Given the description of an element on the screen output the (x, y) to click on. 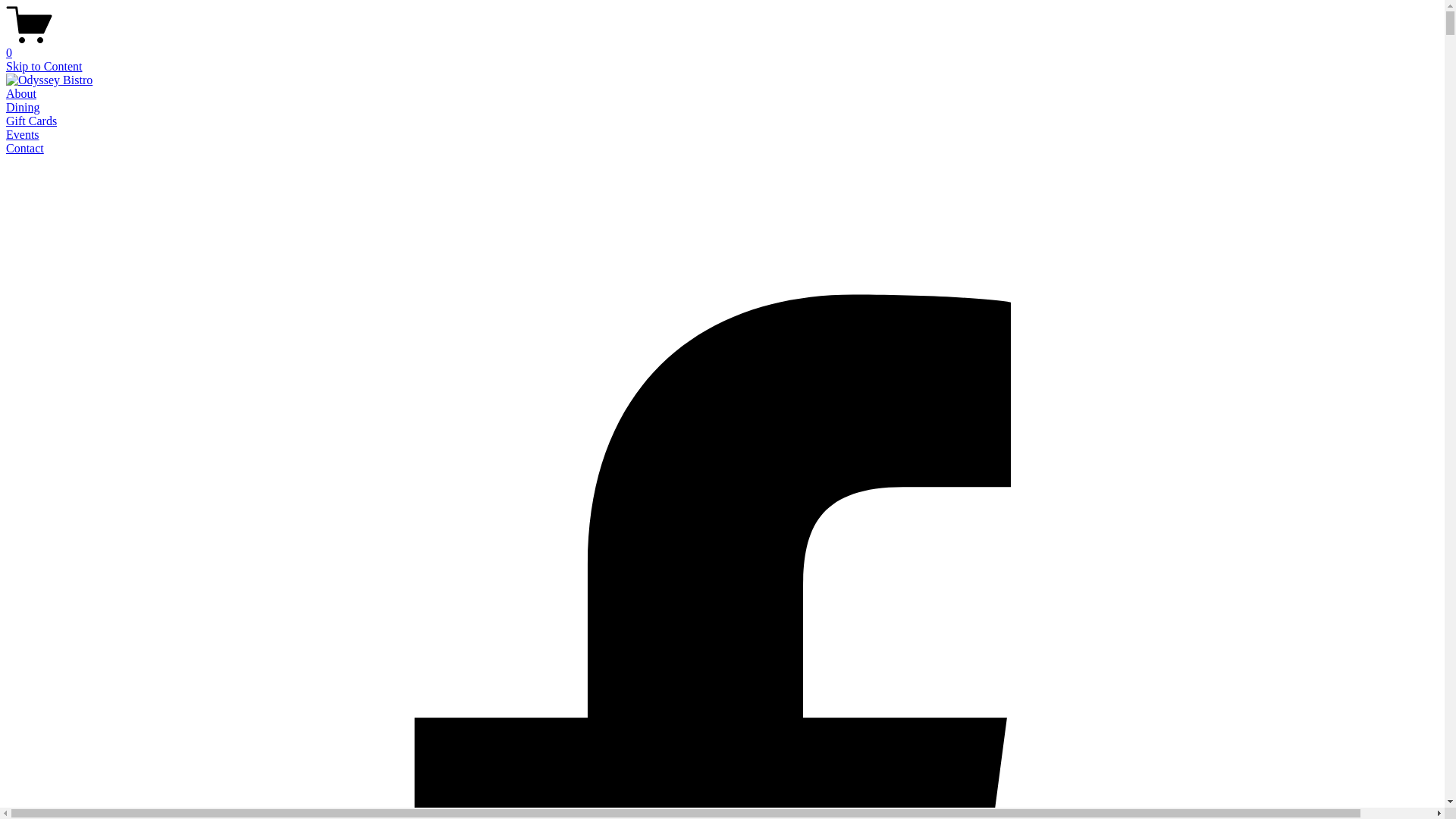
0 Element type: text (722, 45)
Skip to Content Element type: text (43, 65)
About Element type: text (21, 93)
Dining Element type: text (22, 106)
Events Element type: text (22, 134)
Gift Cards Element type: text (31, 120)
Contact Element type: text (24, 147)
